Given the description of an element on the screen output the (x, y) to click on. 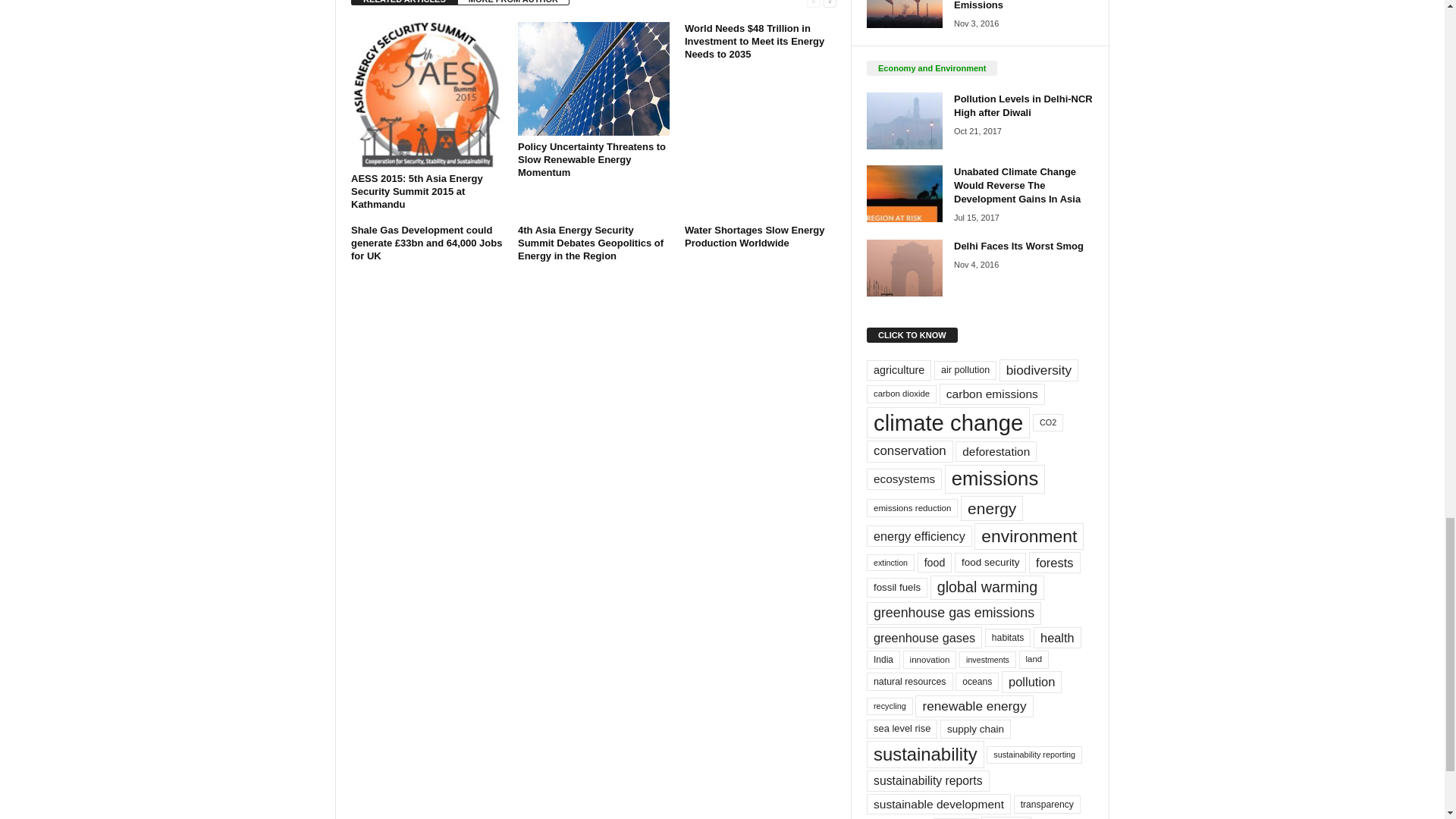
AESS 2015: 5th Asia Energy Security Summit 2015 at Kathmandu (426, 94)
